Given the description of an element on the screen output the (x, y) to click on. 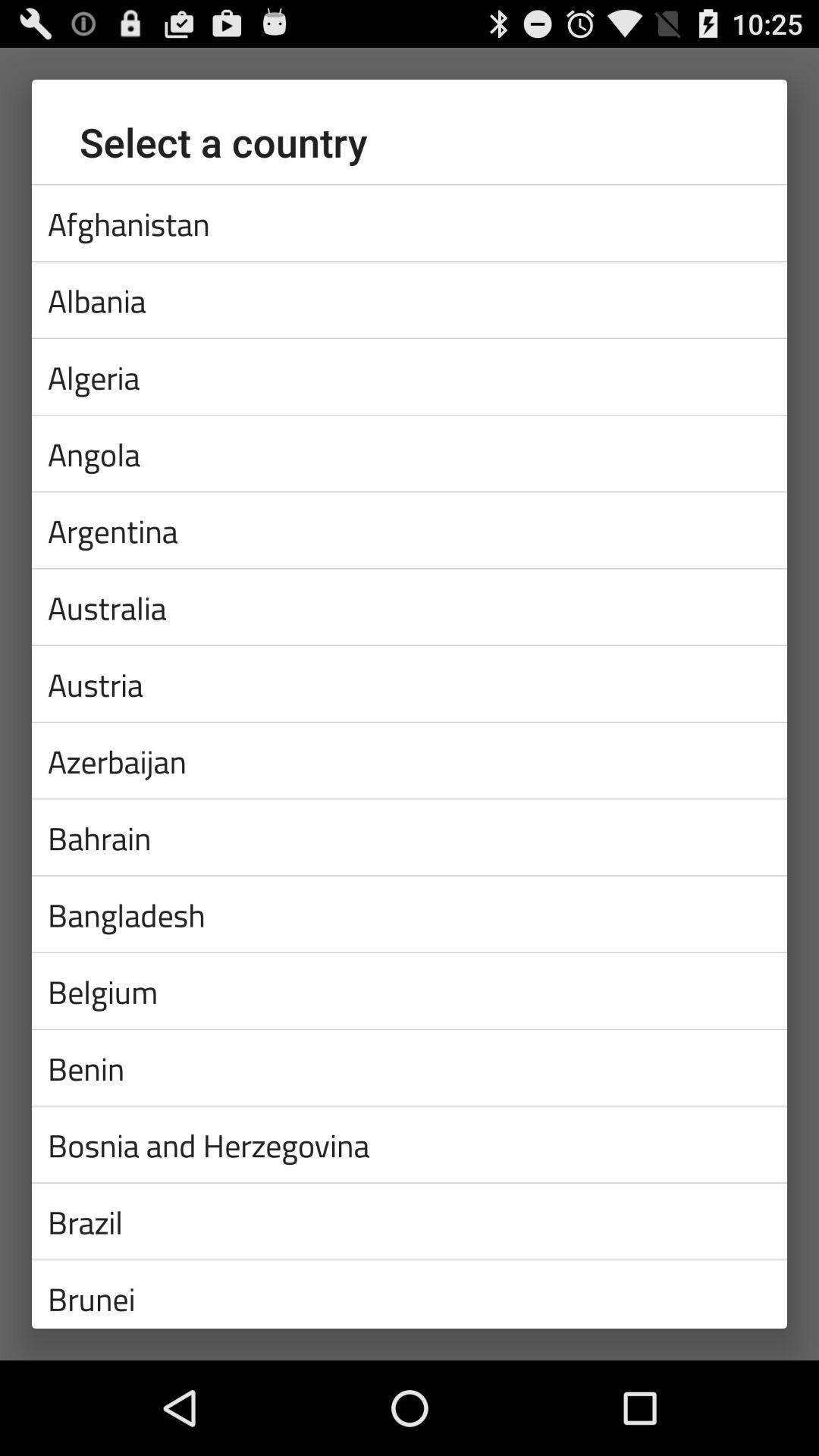
turn off the algeria icon (409, 376)
